Given the description of an element on the screen output the (x, y) to click on. 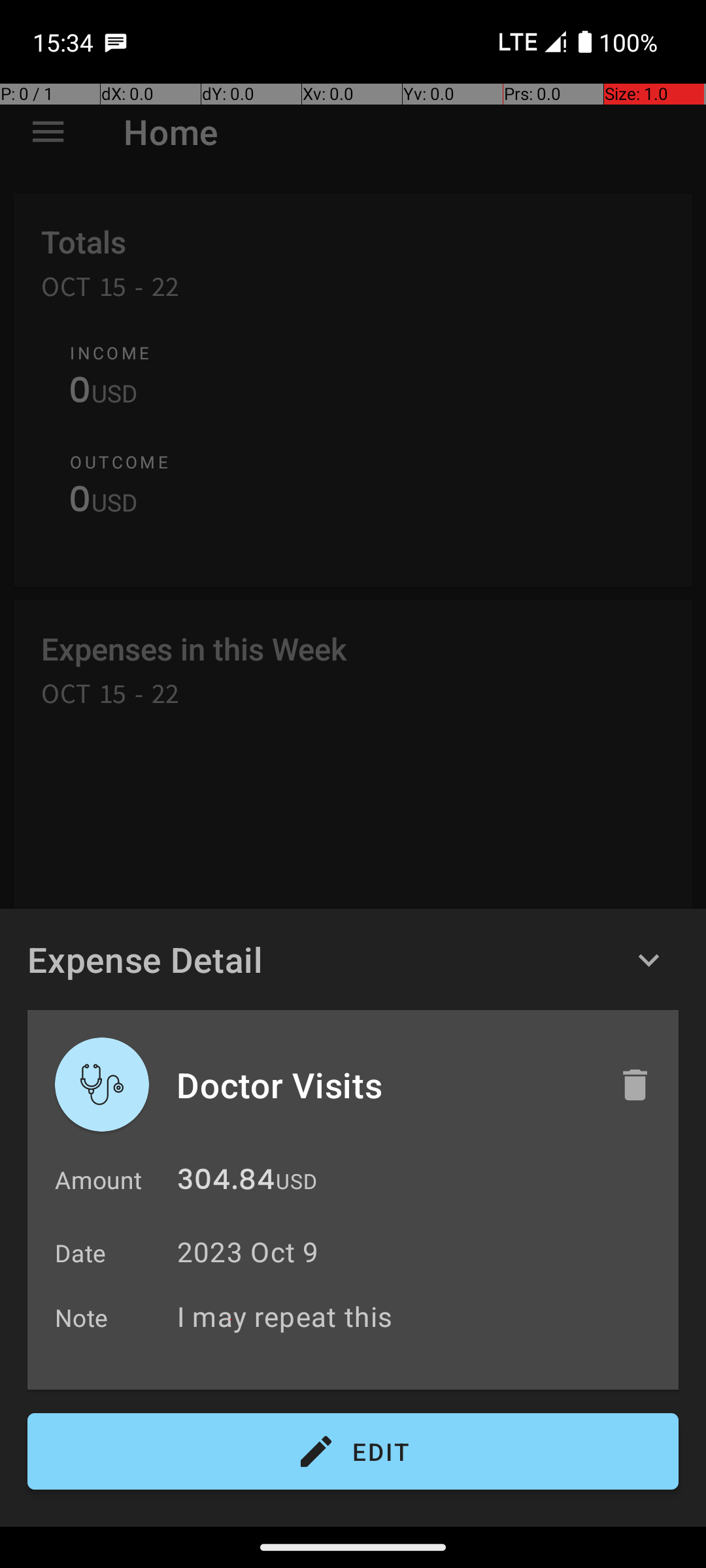
304.84 Element type: android.widget.TextView (225, 1182)
